Given the description of an element on the screen output the (x, y) to click on. 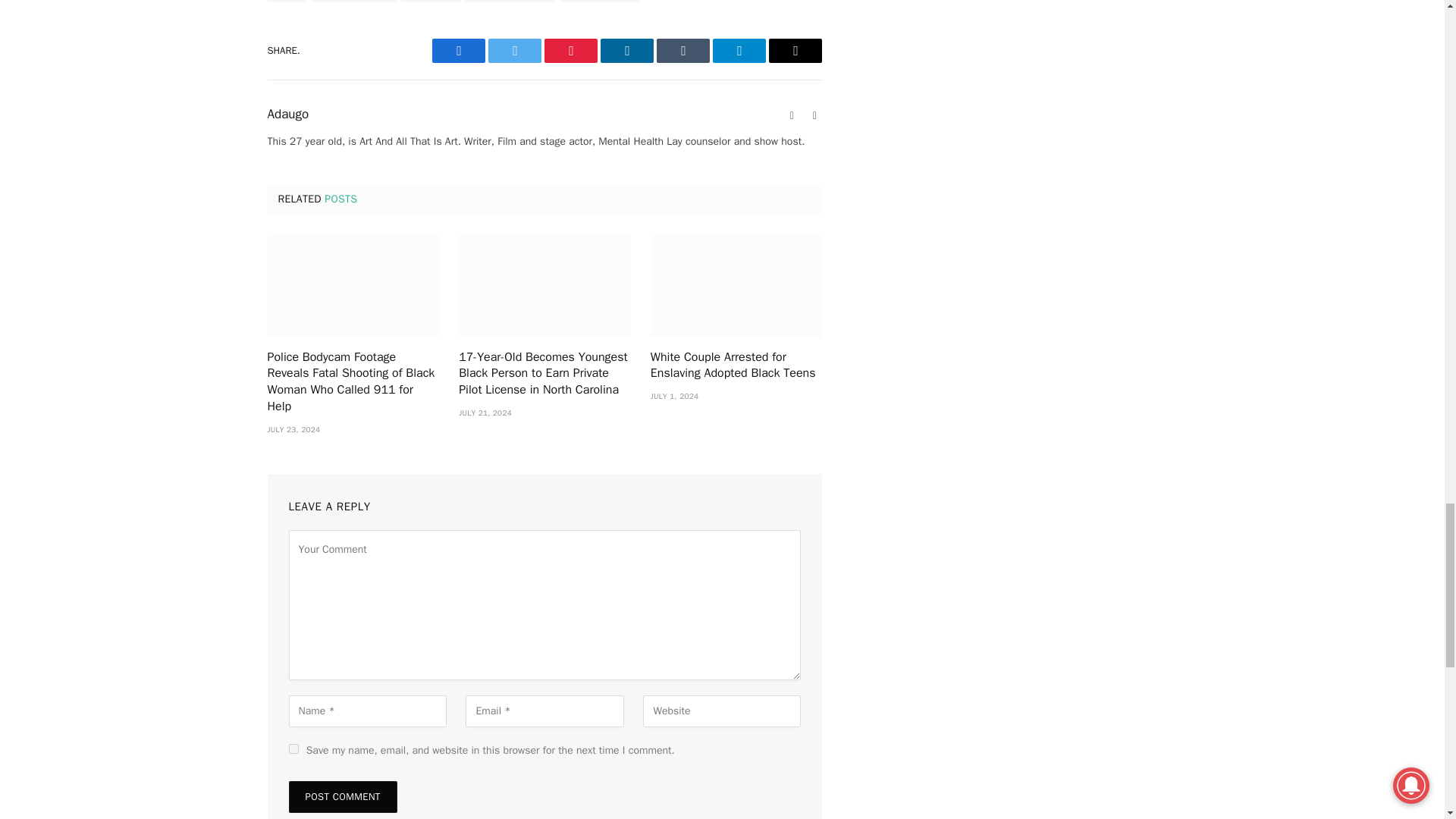
yes (293, 748)
Post Comment (342, 797)
